Given the description of an element on the screen output the (x, y) to click on. 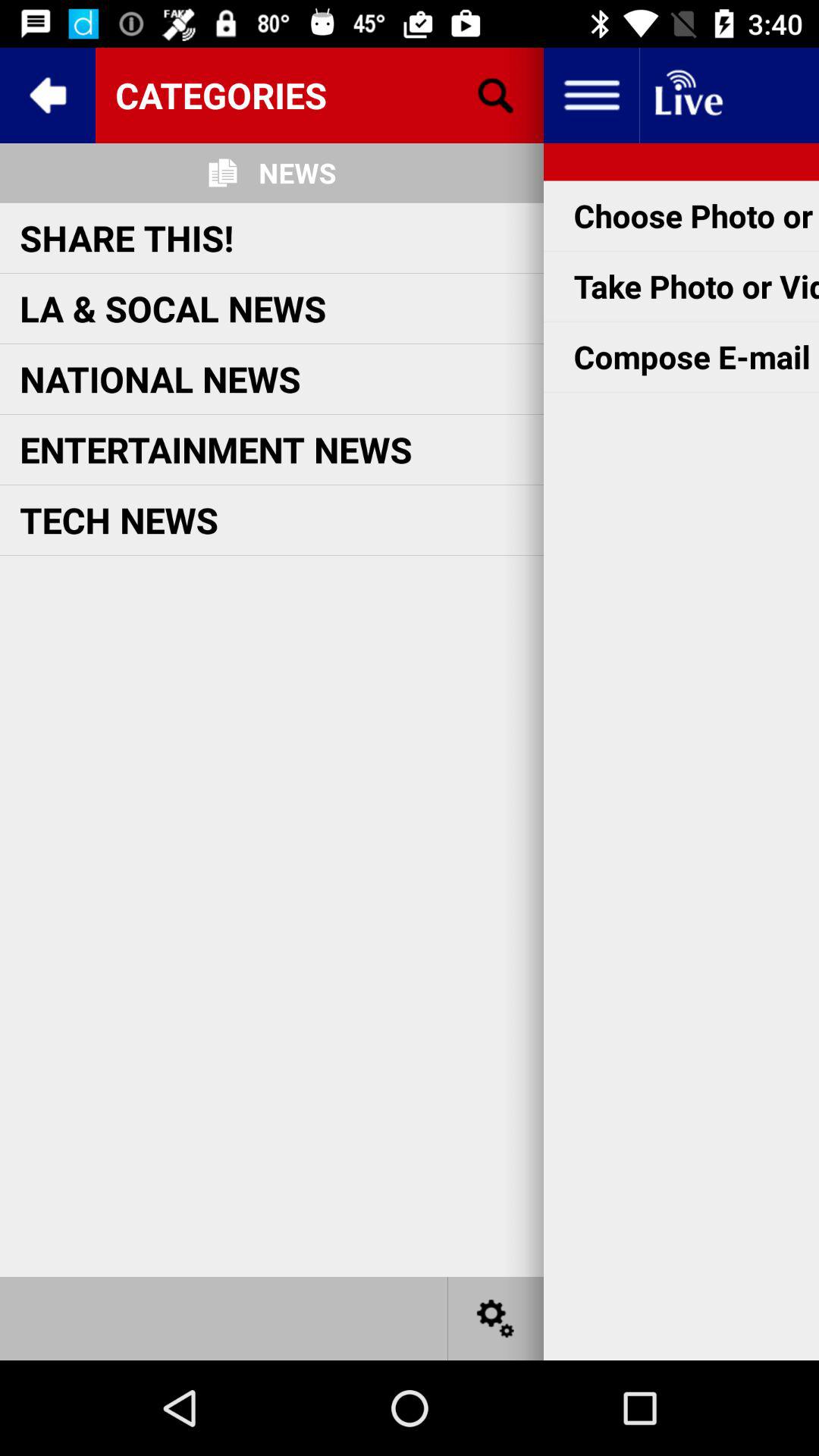
press the item to the right of the news icon (495, 95)
